Given the description of an element on the screen output the (x, y) to click on. 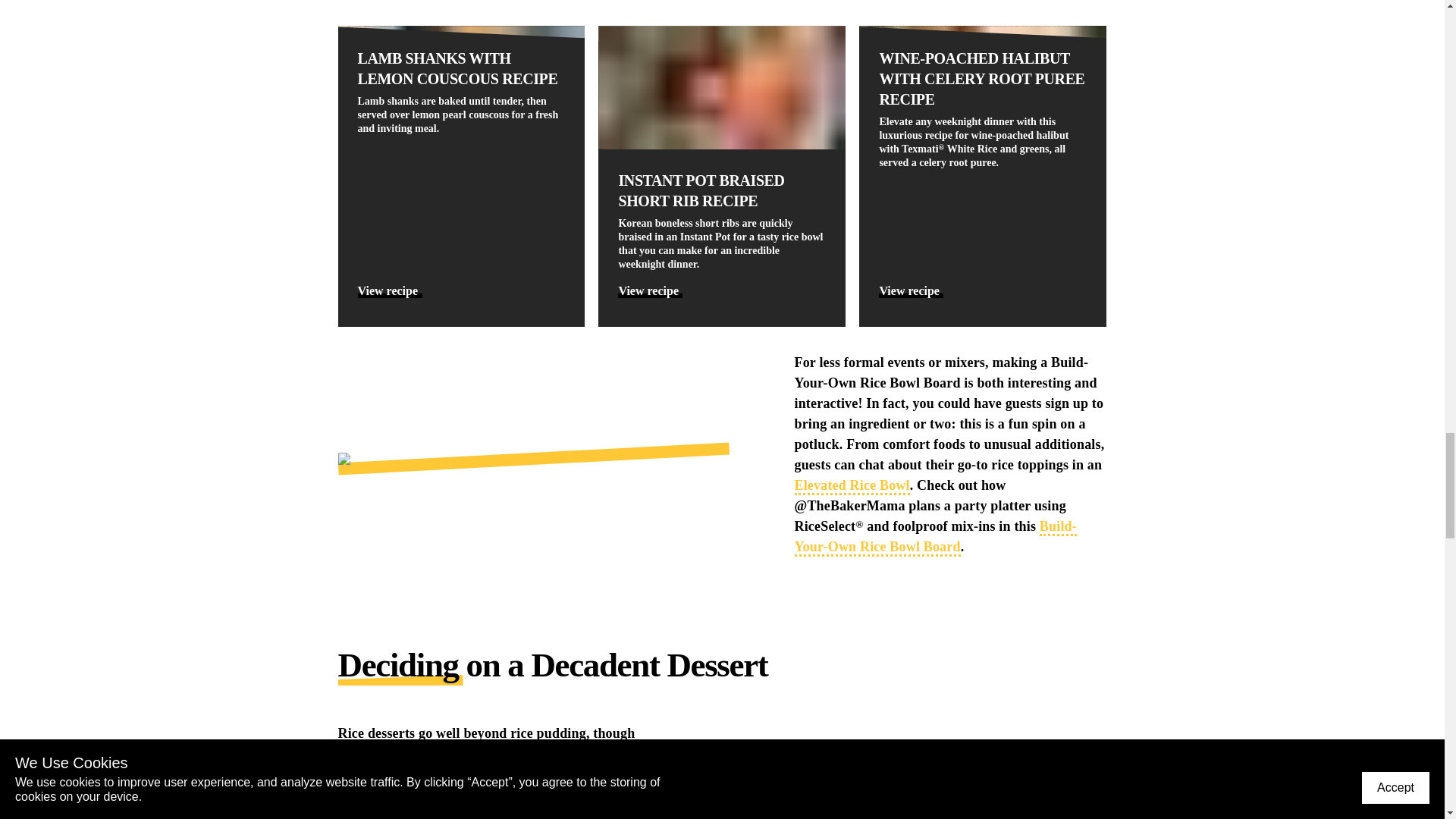
View recipe (649, 290)
View recipe (911, 290)
Build-Your-Own Rice Bowl Board (935, 537)
Elevated Rice Bowl (852, 486)
View recipe (390, 290)
